Given the description of an element on the screen output the (x, y) to click on. 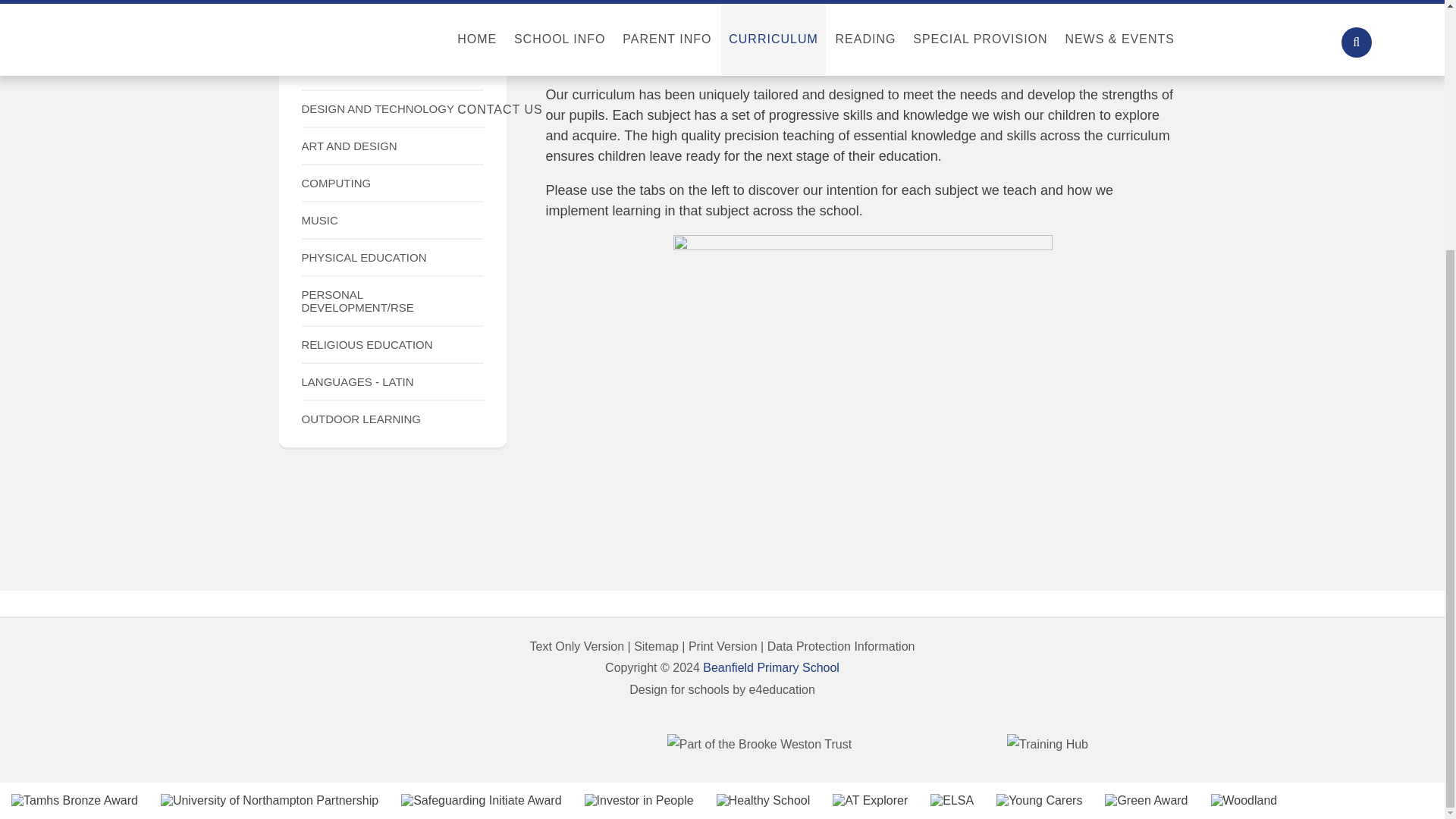
Woodland (1242, 800)
University of Northampton Partnership (269, 800)
Safeguarding Initiate Award (480, 800)
Young Carers (1038, 800)
Tamhs Bronze Award (74, 800)
AT Explorer (869, 800)
Investor in People (639, 800)
Healthy School (763, 800)
Green Award (1146, 800)
ELSA (952, 800)
Part of the Brooke Weston Trust (759, 744)
